Given the description of an element on the screen output the (x, y) to click on. 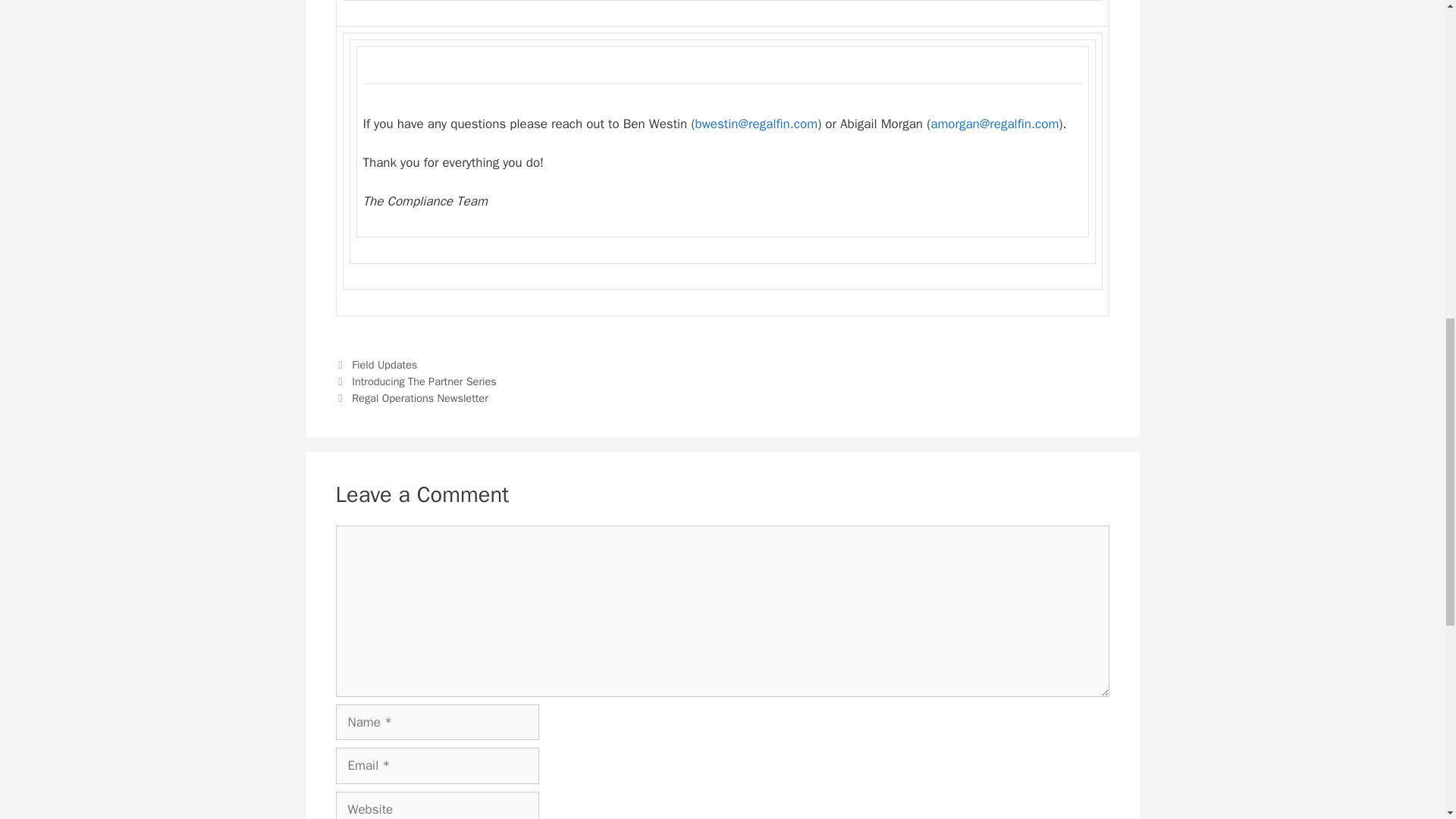
Introducing The Partner Series (424, 381)
Regal Operations Newsletter (419, 397)
Previous (415, 381)
Next (410, 397)
Field Updates (384, 364)
